Given the description of an element on the screen output the (x, y) to click on. 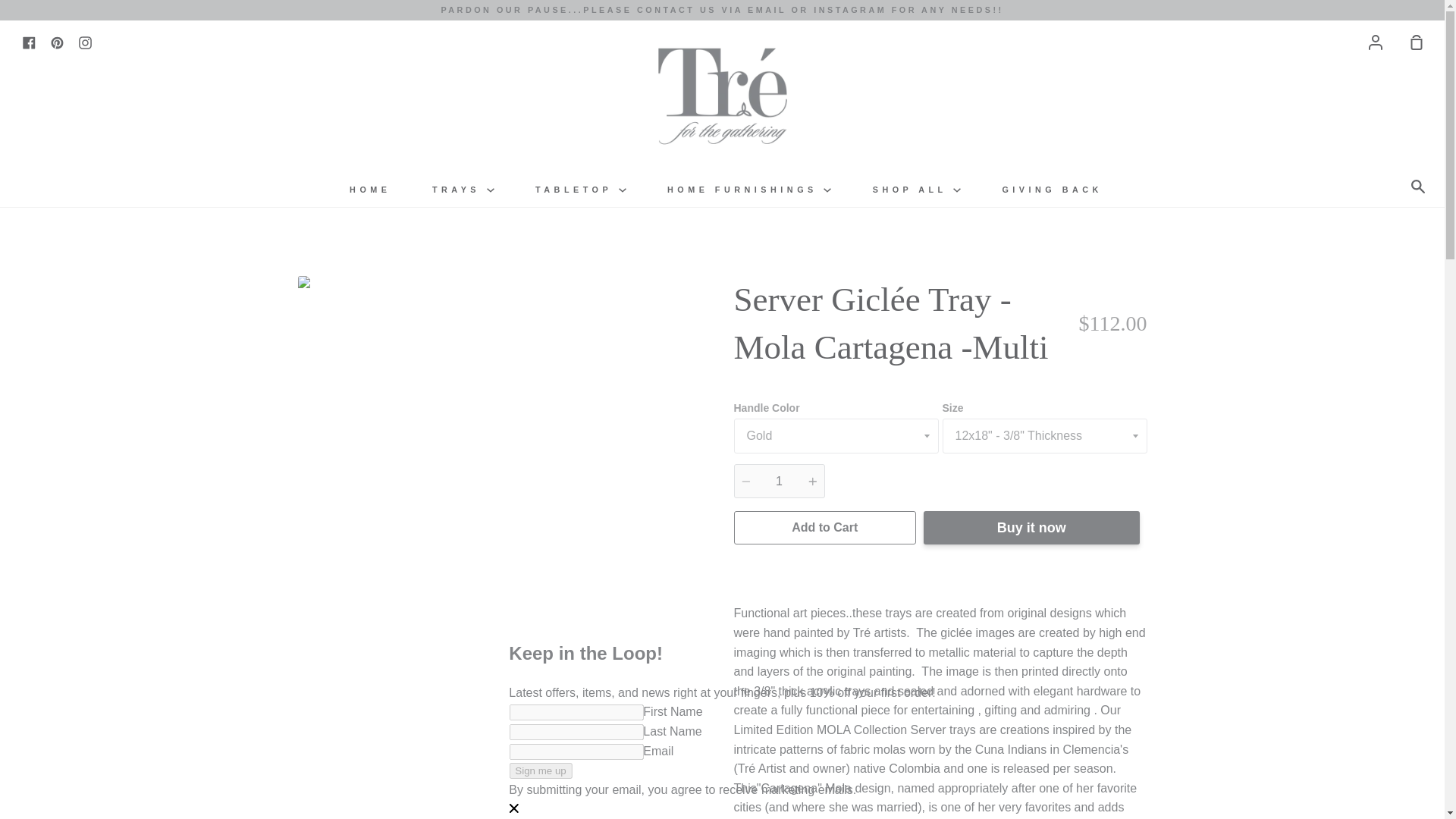
GIVING BACK (1051, 189)
Instagram (84, 41)
HOME (370, 189)
HOME FURNISHINGS (748, 189)
TABLETOP (580, 189)
Facebook (28, 41)
TRAYS (462, 189)
Pinterest (57, 41)
1 (779, 480)
SHOP ALL (916, 189)
Account (1375, 41)
